Given the description of an element on the screen output the (x, y) to click on. 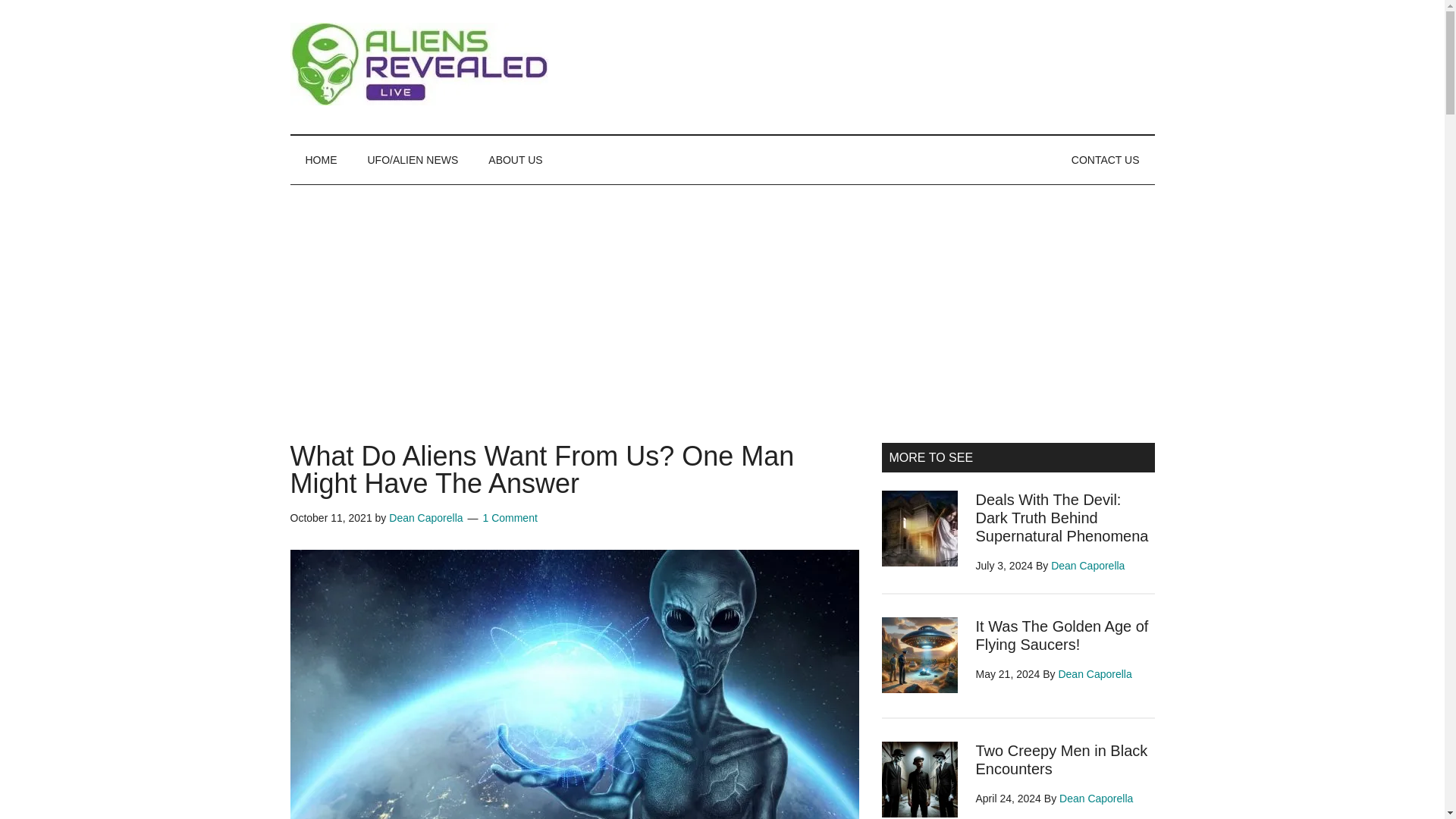
CONTACT US (1105, 159)
HOME (320, 159)
ABOUT US (515, 159)
1 Comment (509, 517)
Dean Caporella (425, 517)
